Given the description of an element on the screen output the (x, y) to click on. 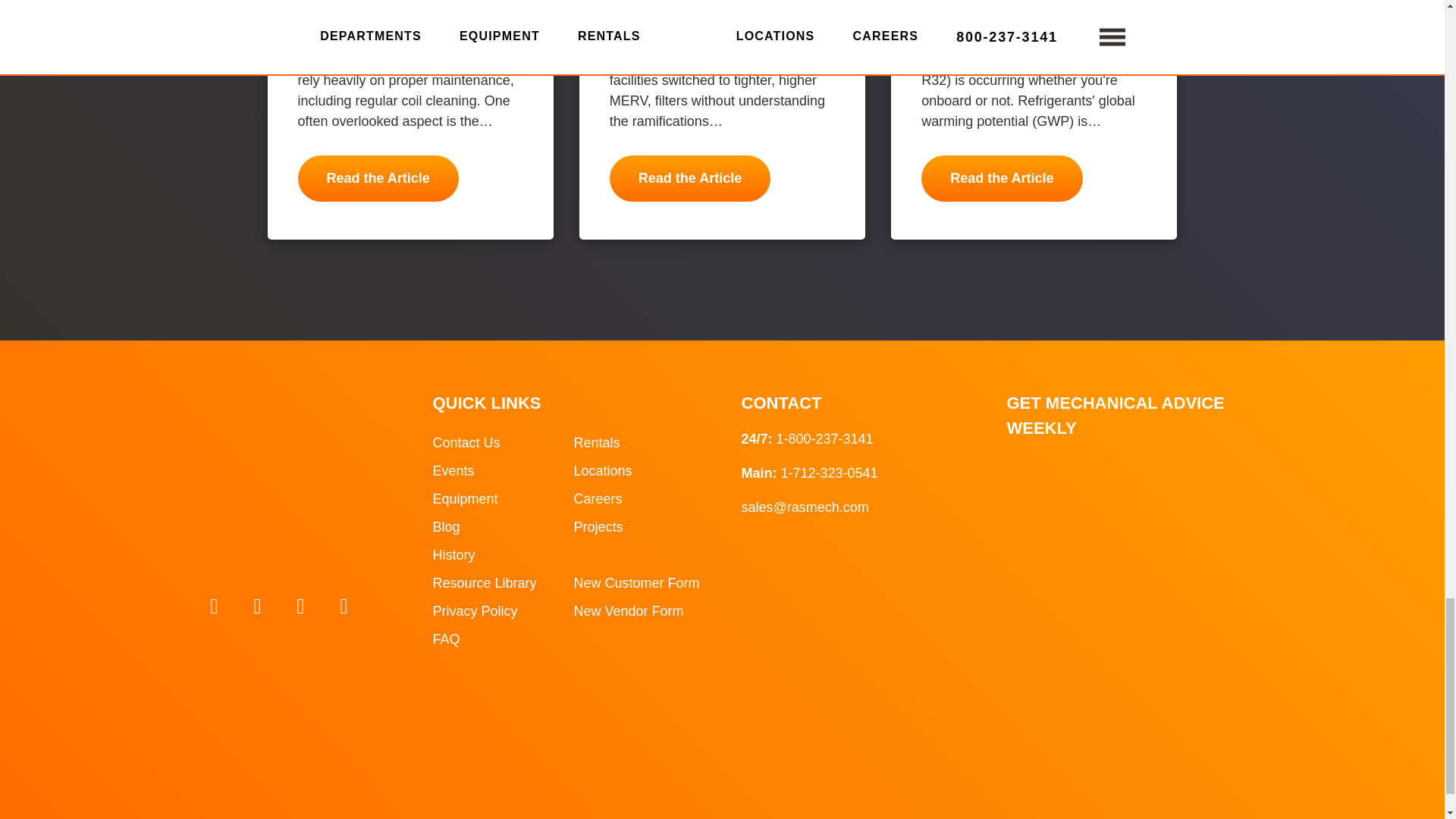
SPLITTING CONDENSER COILS: Commercial Coil Cleaning (407, 5)
SPLITTING CONDENSER COILS: Commercial Coil Cleaning (377, 178)
Switching To A Higher MERV Rated Filter? Pump The Brakes (690, 178)
Switching To A Higher MERV Rated Filter? Pump The Brakes (719, 5)
